Given the description of an element on the screen output the (x, y) to click on. 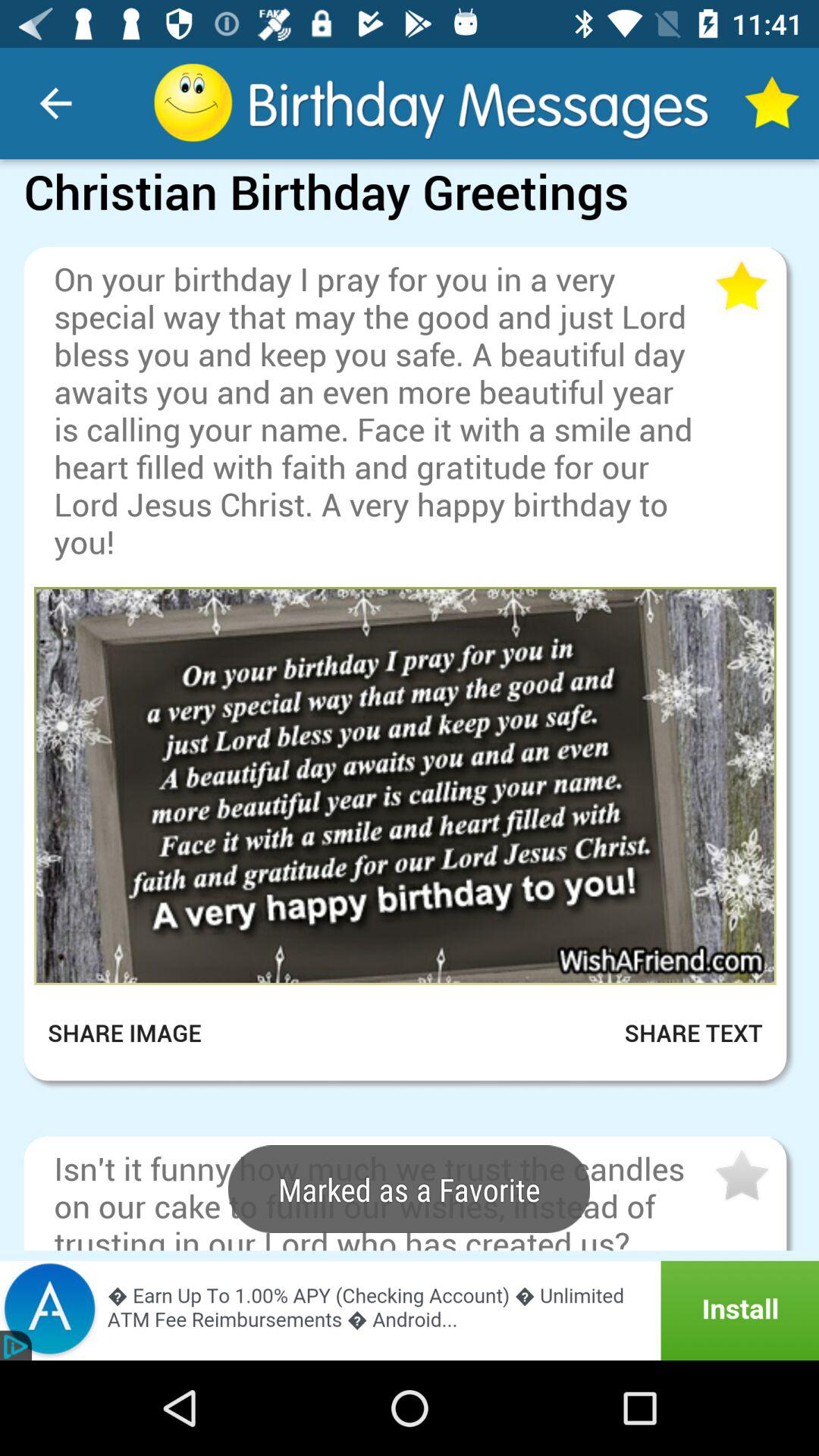
jump until isn t it icon (382, 1198)
